Given the description of an element on the screen output the (x, y) to click on. 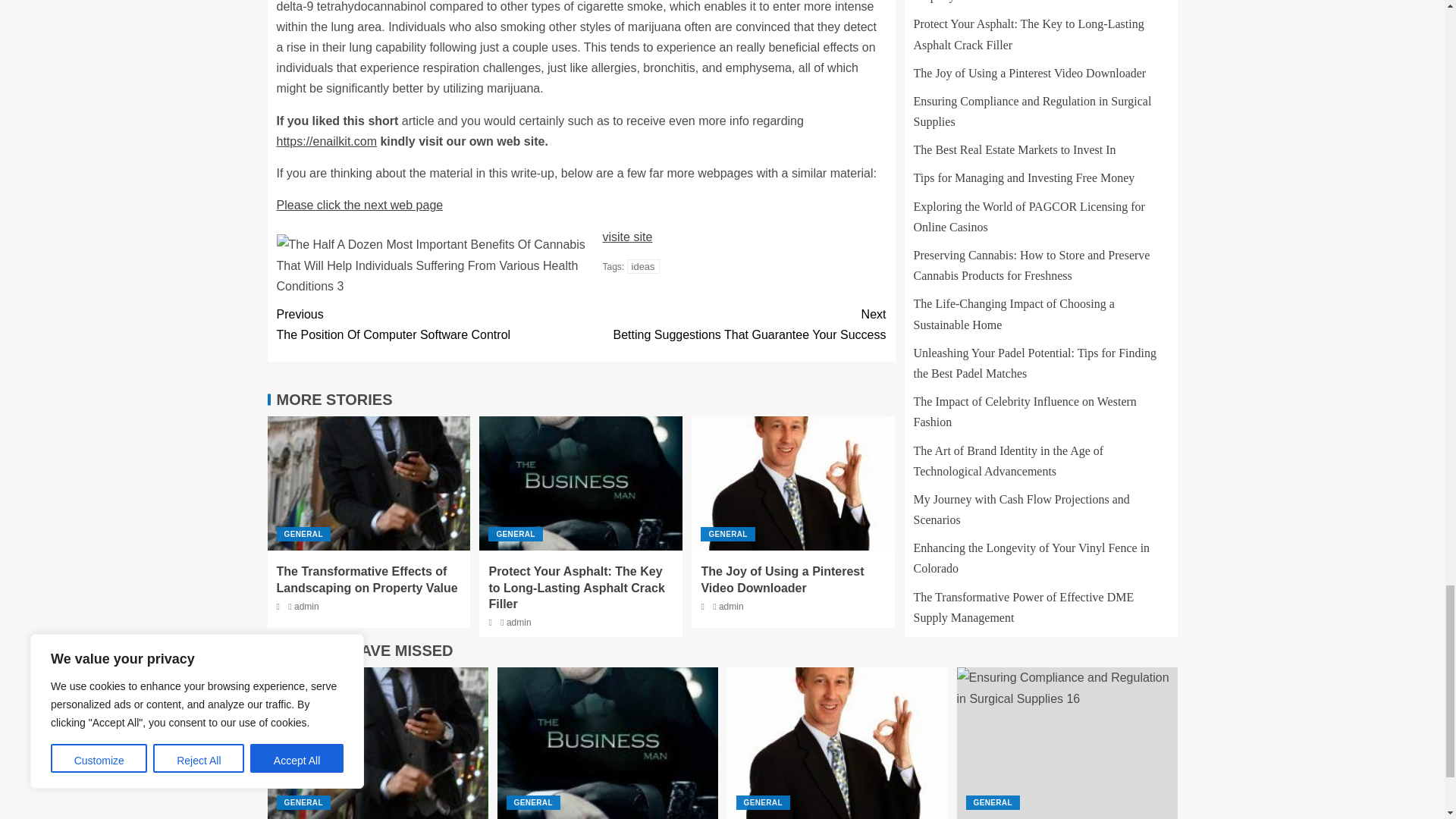
Please click the next web page (732, 323)
GENERAL (359, 205)
visite site (303, 534)
ideas (428, 323)
